Given the description of an element on the screen output the (x, y) to click on. 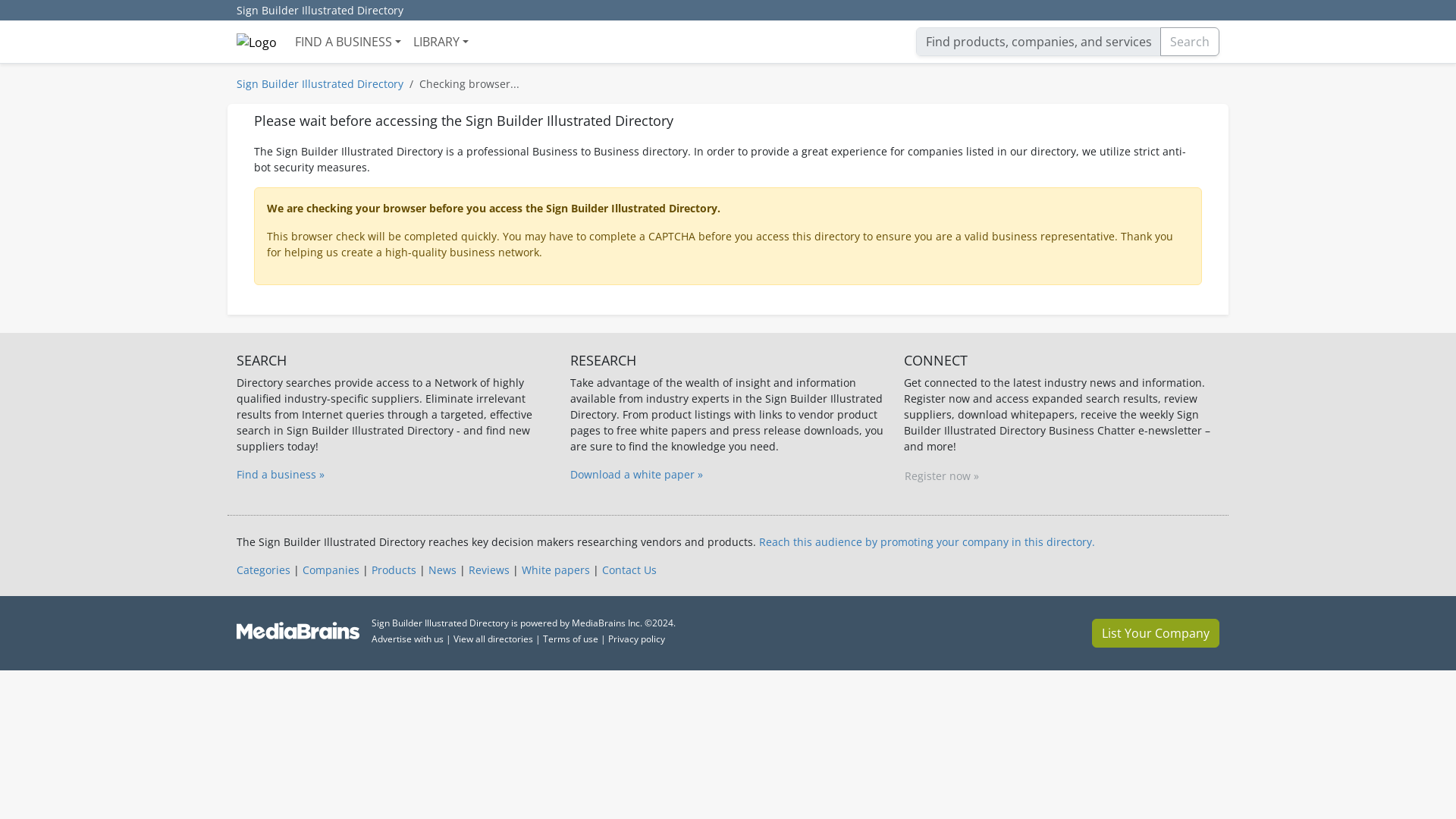
Contact Us (629, 569)
View all directories (492, 638)
Companies (330, 569)
Privacy policy (636, 638)
Advertise with us (407, 638)
List Your Company (1156, 633)
LIBRARY (440, 41)
Sign Builder Illustrated Directory (319, 10)
News (442, 569)
Terms of use (570, 638)
